Given the description of an element on the screen output the (x, y) to click on. 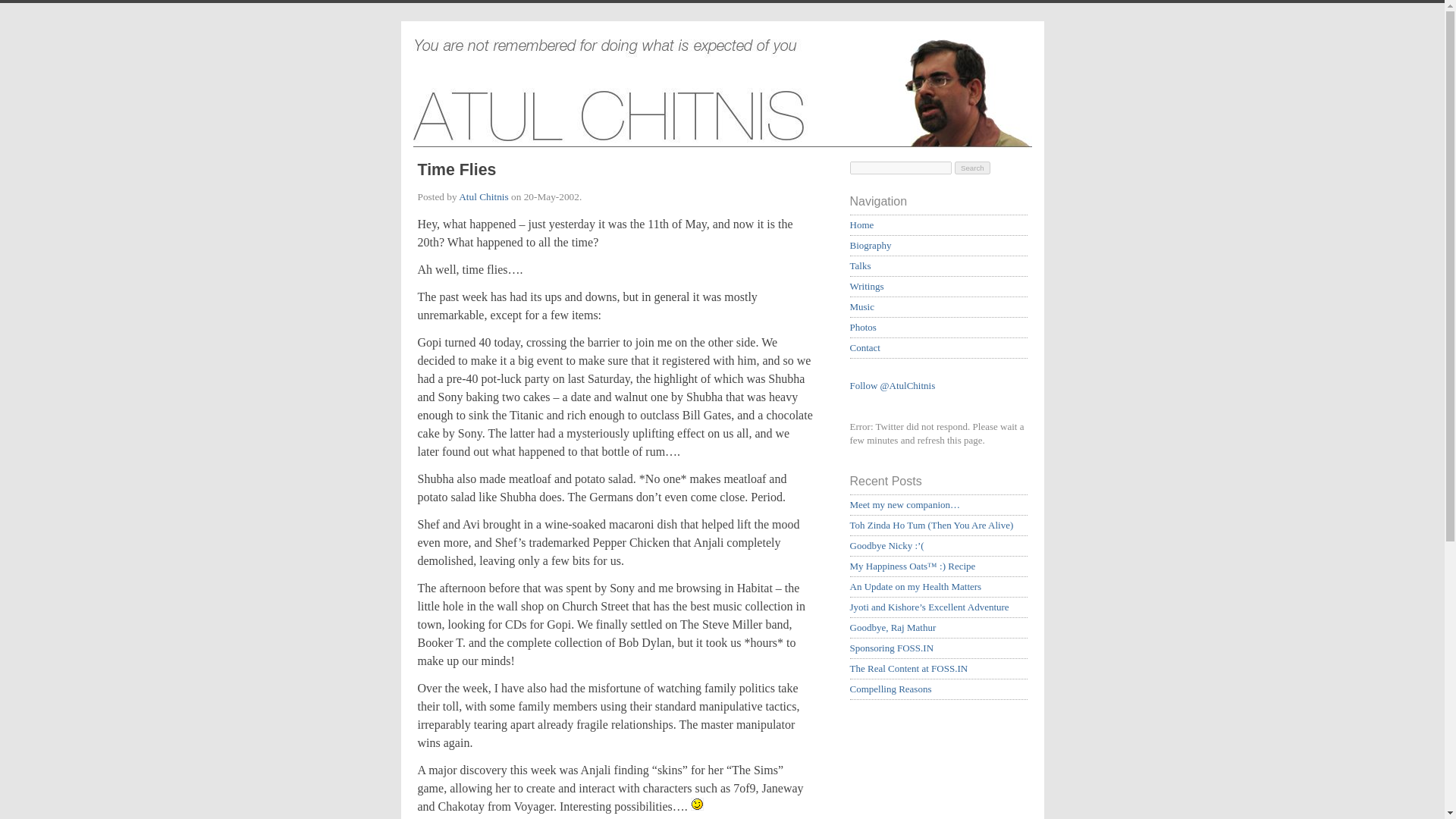
Talks (859, 265)
Compelling Reasons (889, 688)
Contact (863, 347)
Search (972, 167)
An Update on my Health Matters (914, 586)
Writings (865, 285)
The Real Content at FOSS.IN (908, 668)
Go to home page (721, 96)
Music (861, 306)
Sponsoring FOSS.IN (890, 647)
Search (972, 167)
Goodbye, Raj Mathur (892, 627)
Home (860, 224)
Atul Chitnis (483, 196)
